Given the description of an element on the screen output the (x, y) to click on. 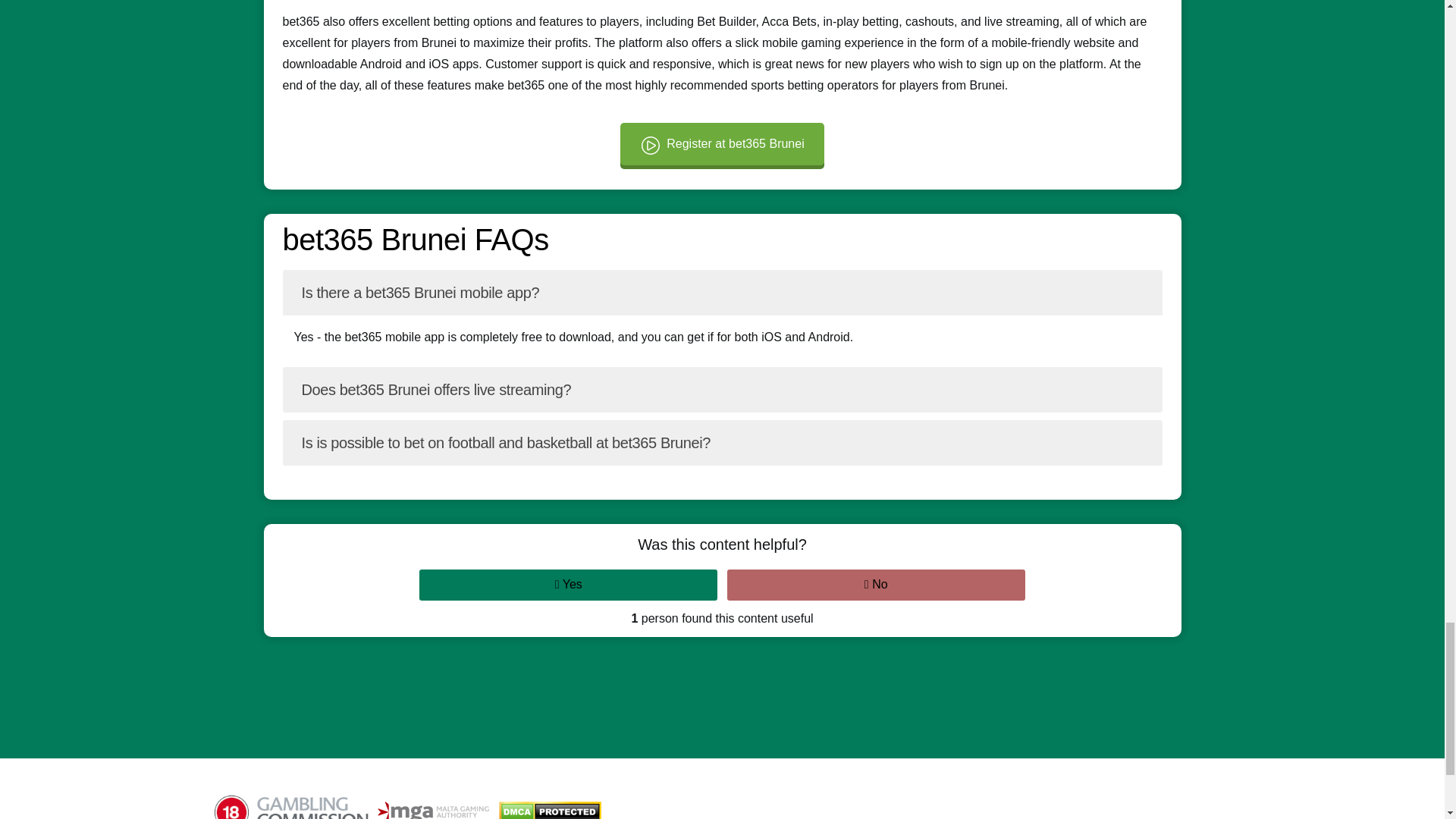
DMCA.com Protection Status (553, 810)
